Given the description of an element on the screen output the (x, y) to click on. 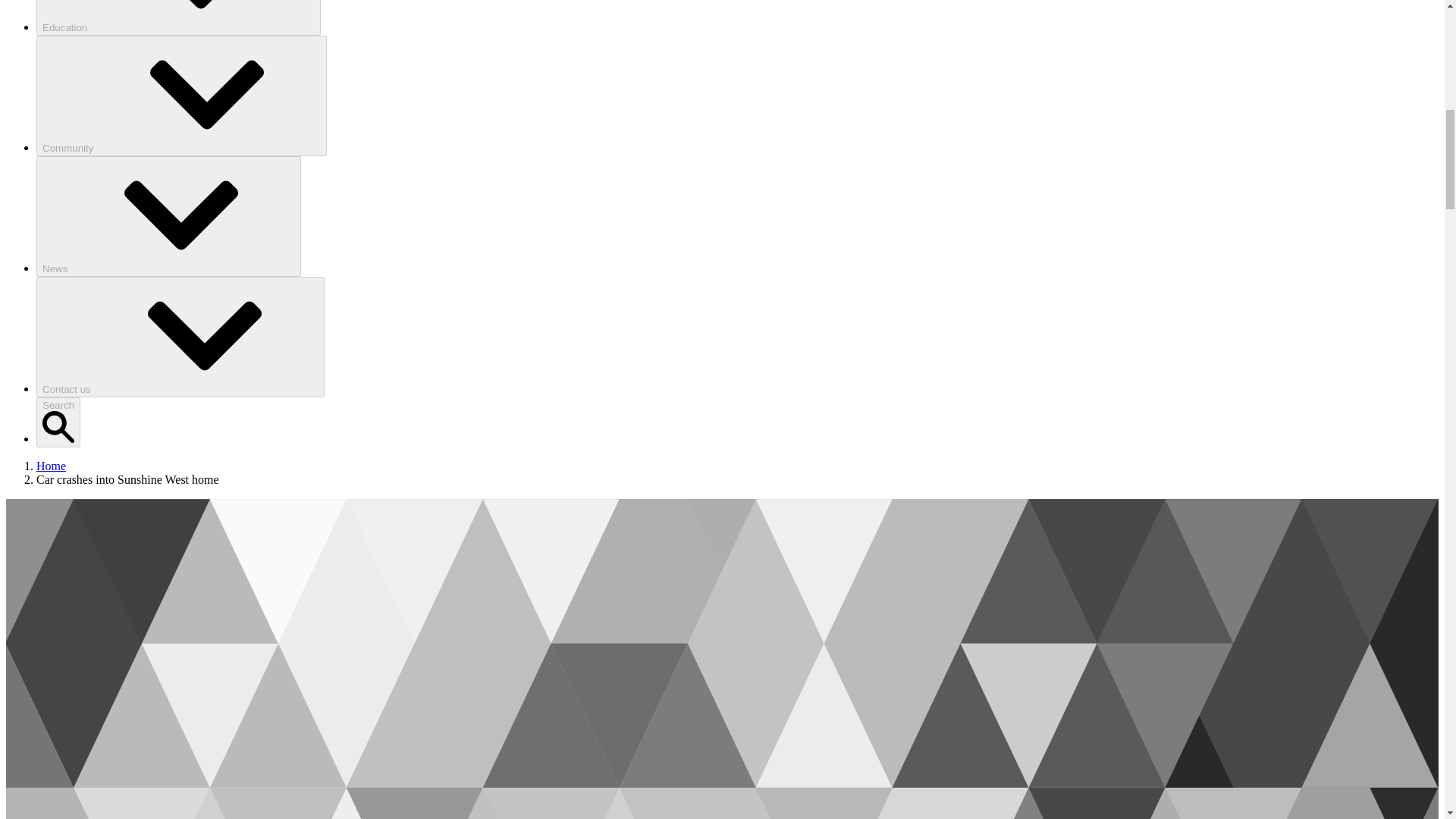
Home (50, 465)
